Given the description of an element on the screen output the (x, y) to click on. 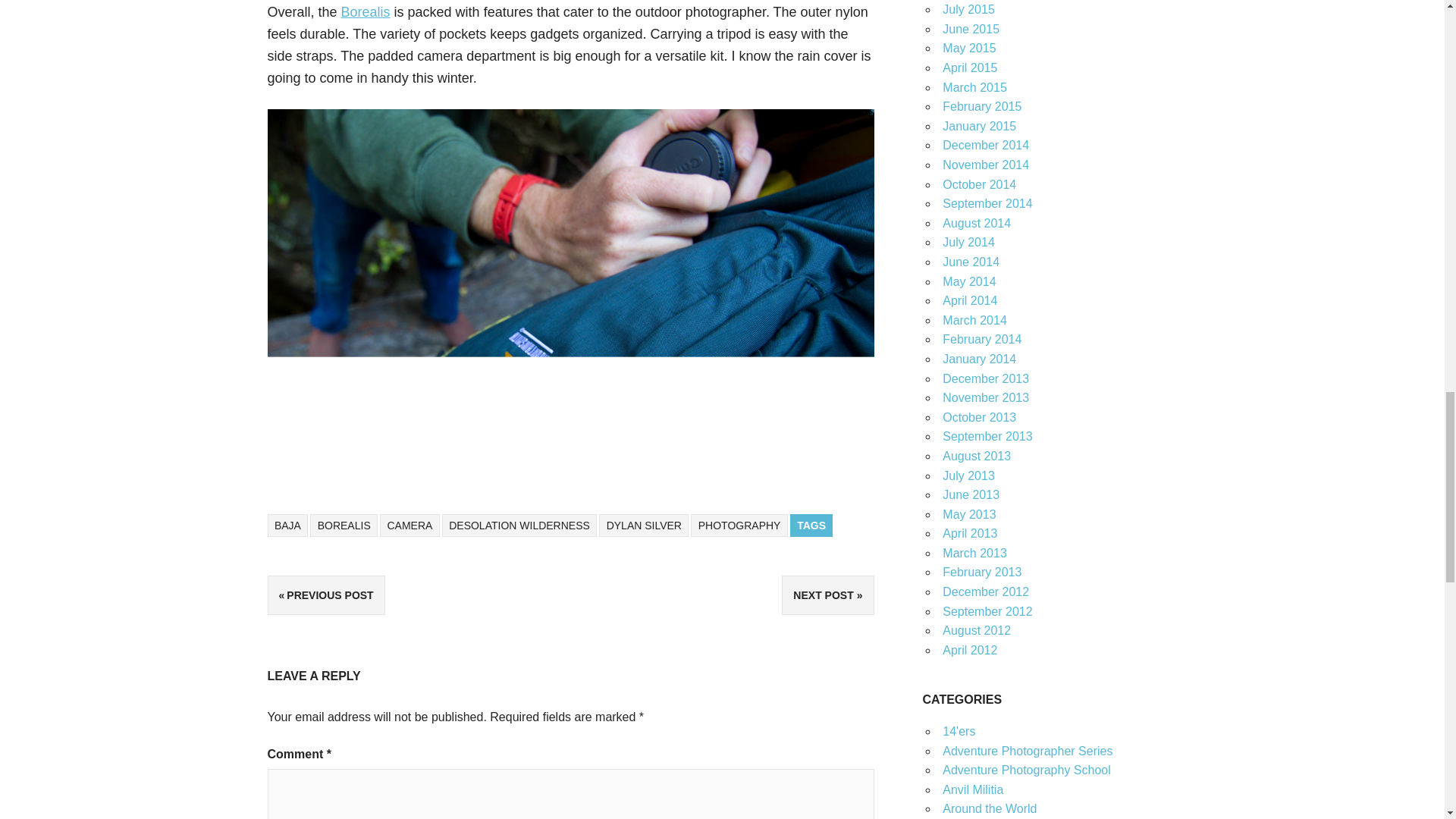
CAMERA (409, 525)
BOREALIS (343, 525)
NEXT POST (827, 595)
PHOTOGRAPHY (738, 525)
PREVIOUS POST (325, 595)
BAJA (286, 525)
Borealis (365, 11)
DESOLATION WILDERNESS (519, 525)
DYLAN SILVER (643, 525)
